Given the description of an element on the screen output the (x, y) to click on. 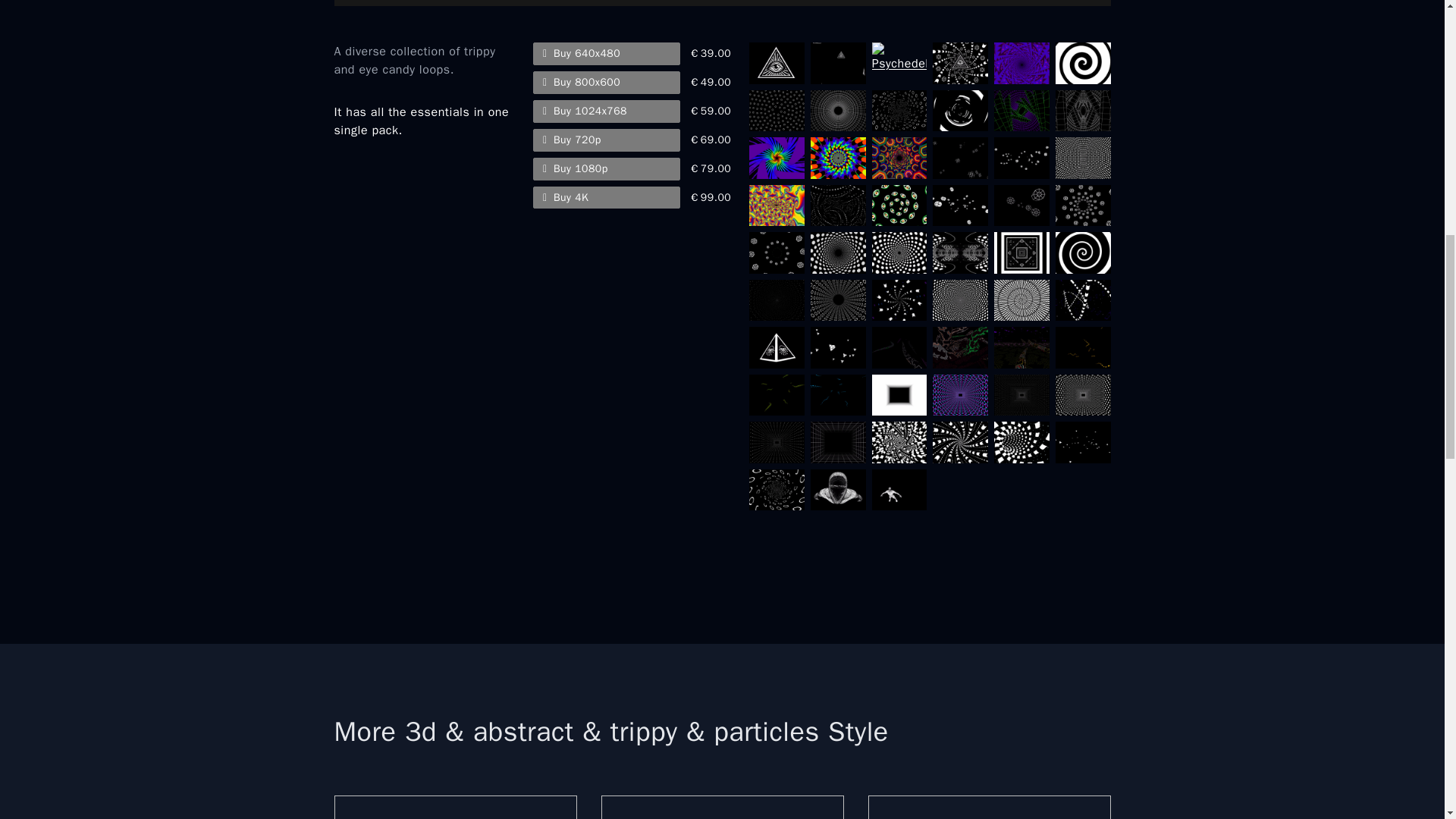
Buy 720p (605, 139)
Buy 800x600 (605, 82)
Buy 1080p (605, 169)
Buy 1024x768 (605, 110)
Buy 4K (605, 197)
Buy 640x480 (605, 53)
